Given the description of an element on the screen output the (x, y) to click on. 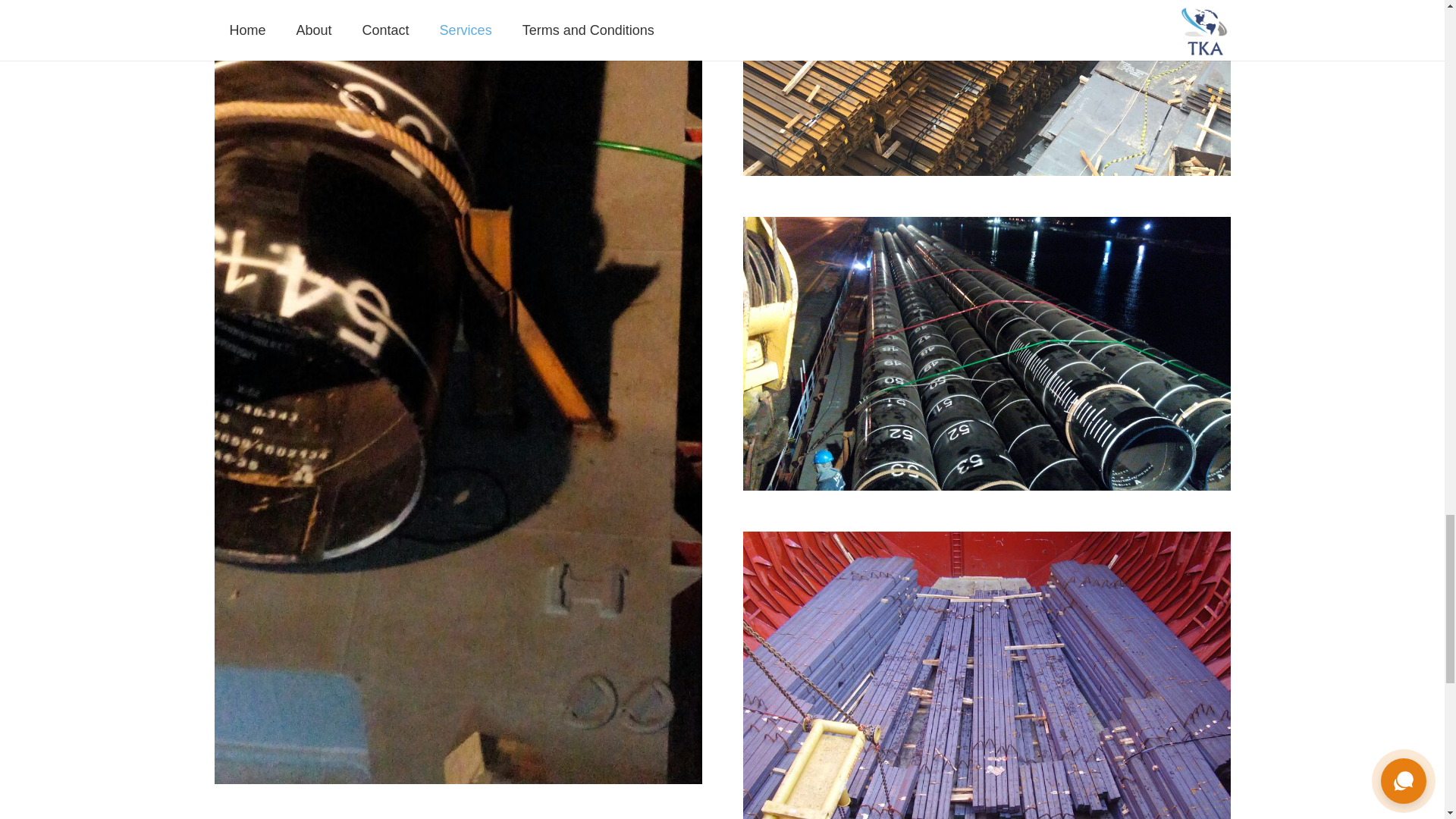
s3 (986, 354)
s5 (986, 88)
